Given the description of an element on the screen output the (x, y) to click on. 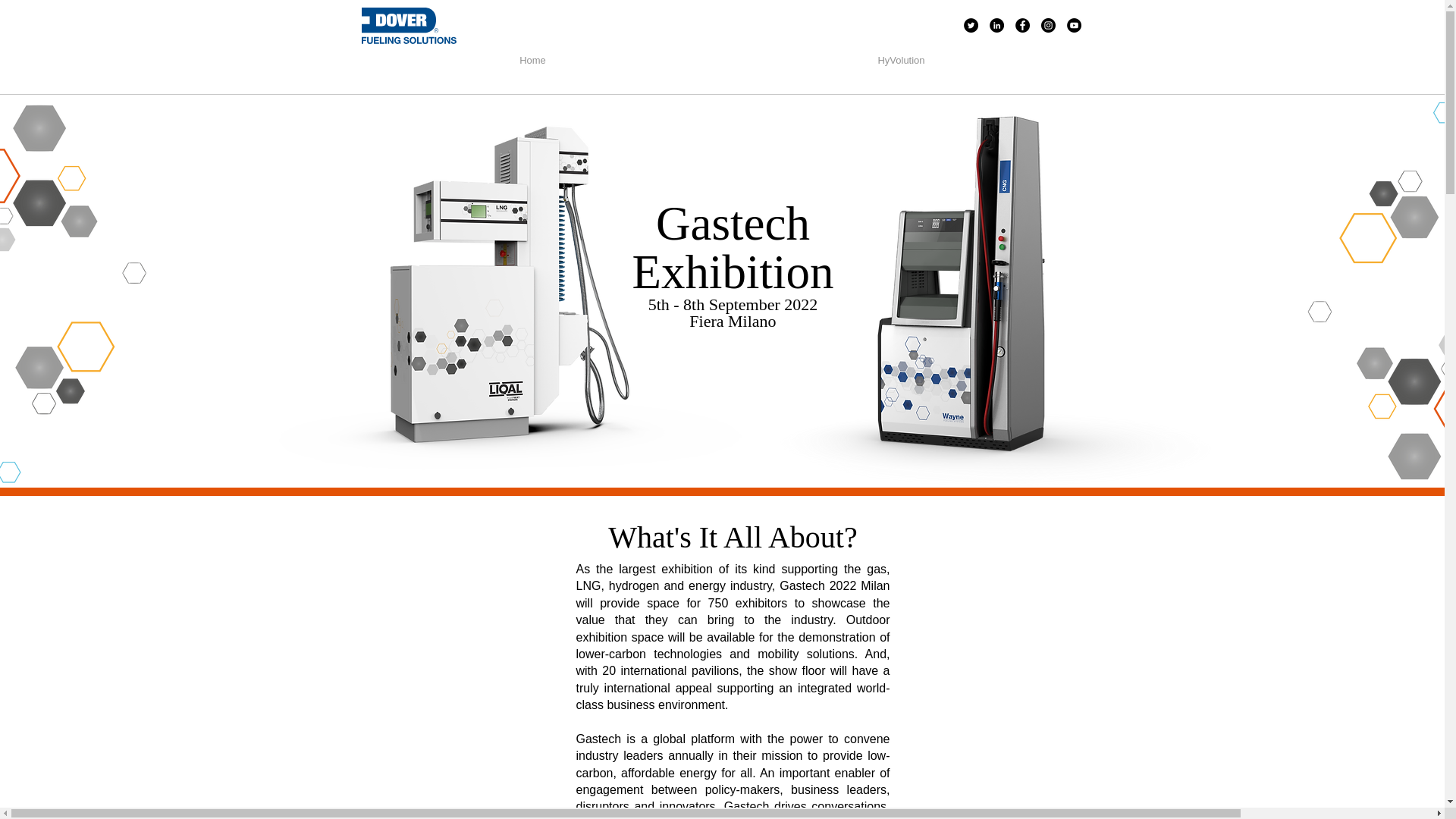
HyVolution (900, 60)
Home (532, 60)
